Given the description of an element on the screen output the (x, y) to click on. 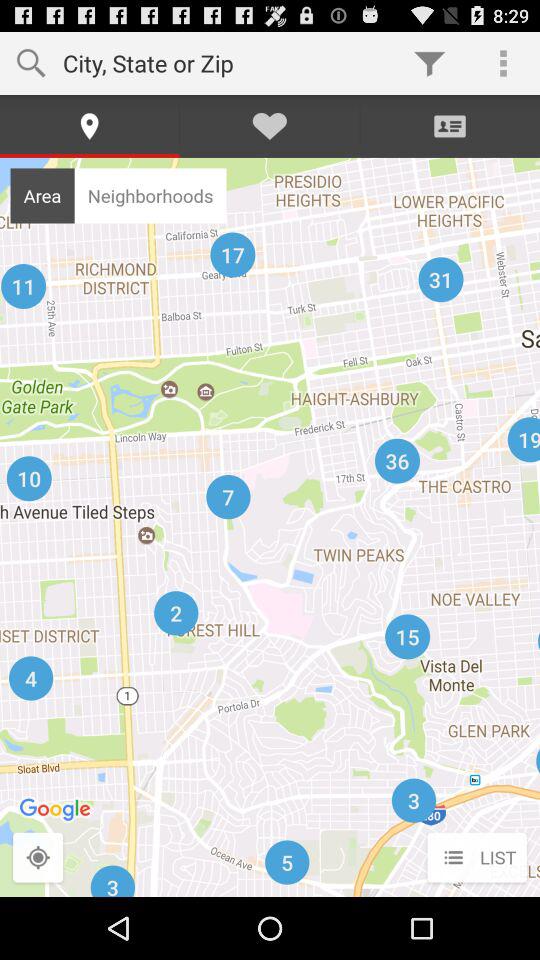
flip until area item (42, 195)
